Given the description of an element on the screen output the (x, y) to click on. 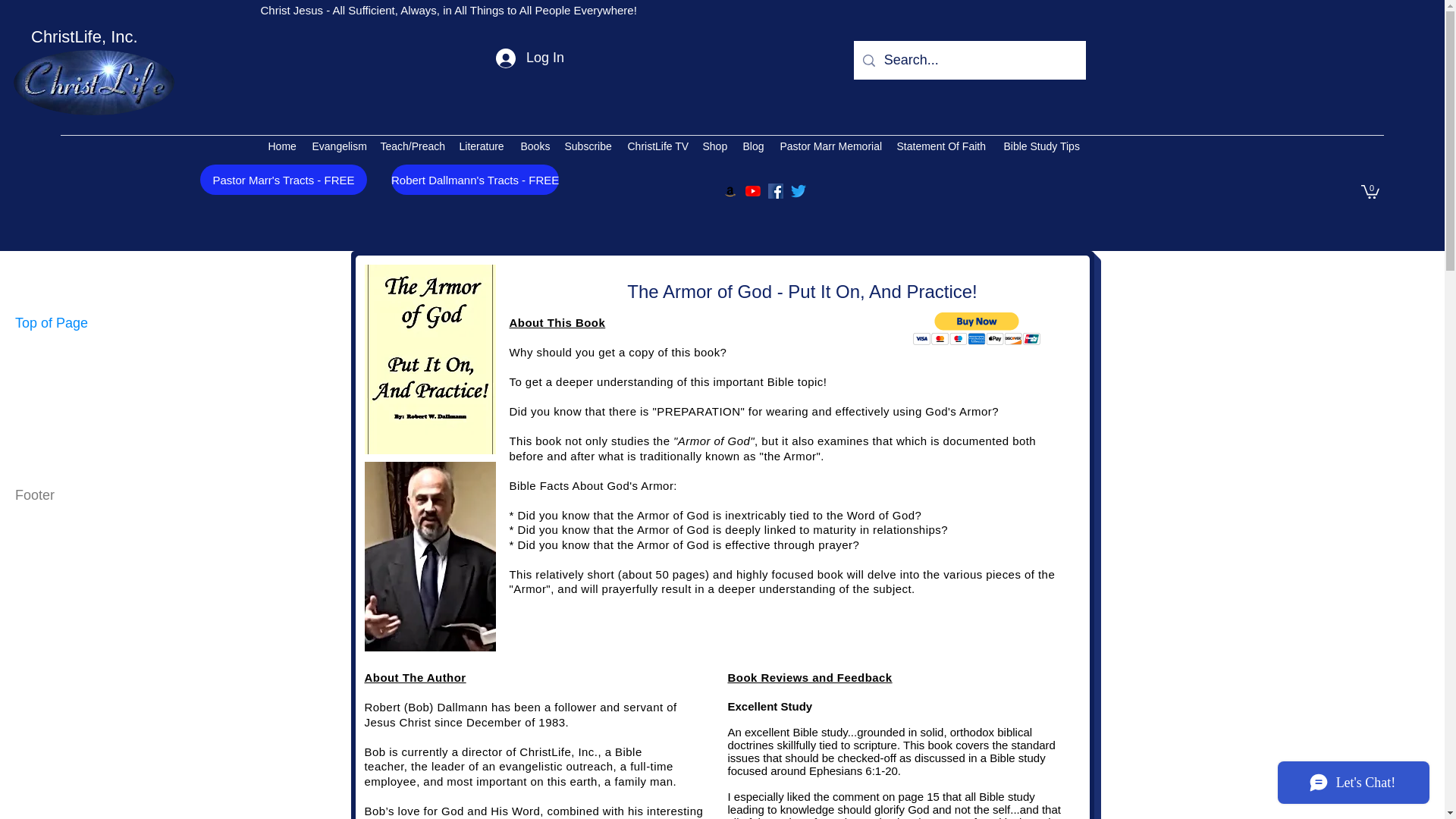
Bible Study Tips (1042, 146)
Untitled.jpg (93, 82)
ChristLife, Inc. (84, 36)
Home (282, 146)
Top of Page (137, 322)
Shop (714, 146)
Books (534, 146)
Statement Of Faith (941, 146)
Evangelism (338, 146)
Blog (754, 146)
0 (1369, 191)
Subscribe (588, 146)
Pastor Marr Memorial (829, 146)
Footer (137, 495)
0 (1369, 191)
